Given the description of an element on the screen output the (x, y) to click on. 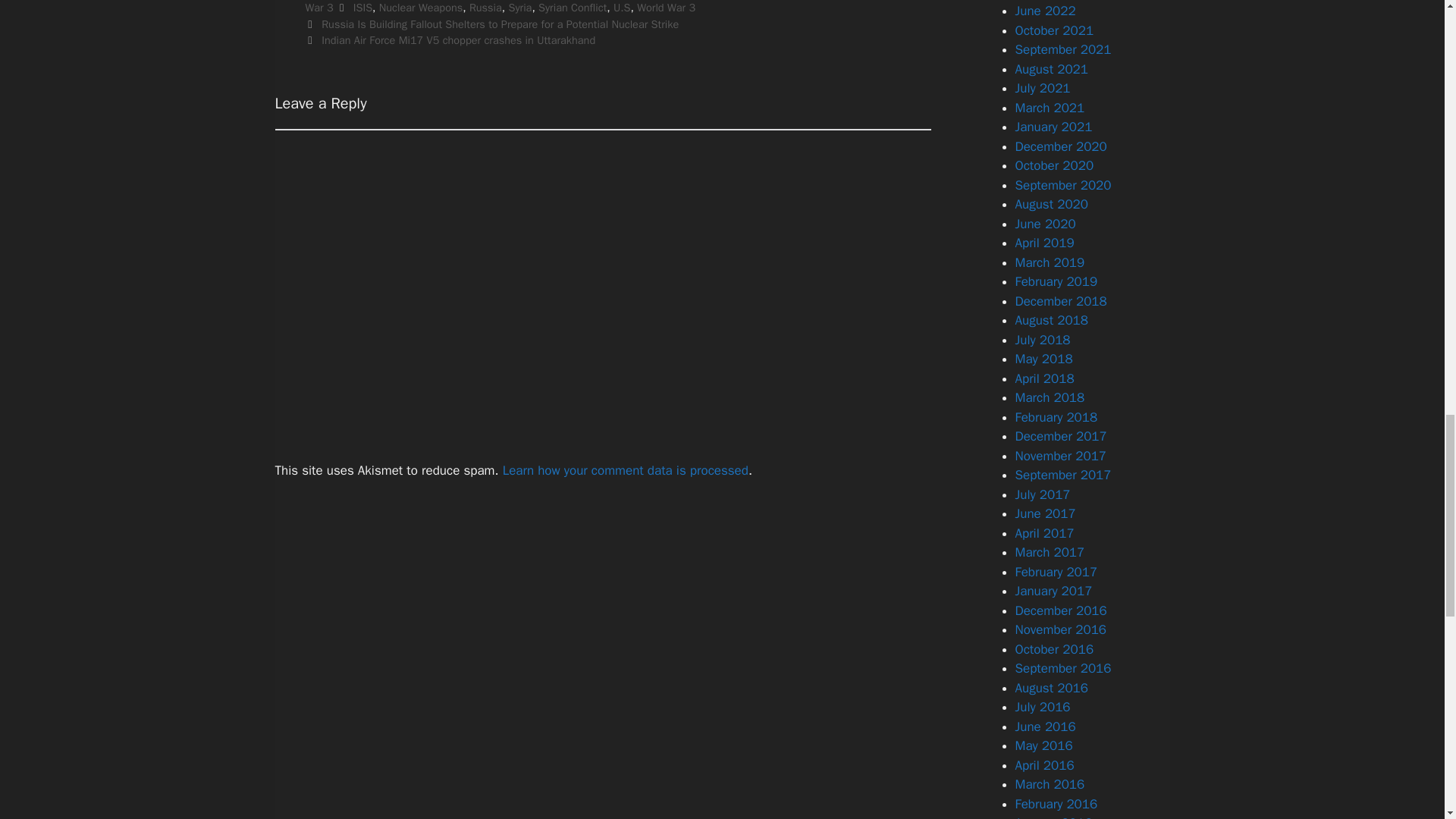
World War 3 (666, 7)
Syria (520, 7)
U.S (621, 7)
Indian Air Force Mi17 V5 chopper crashes in Uttarakhand (458, 39)
World War 3 (593, 7)
Russia (485, 7)
ISIS (362, 7)
Syrian Conflict (572, 7)
Nuclear Weapons (420, 7)
